Given the description of an element on the screen output the (x, y) to click on. 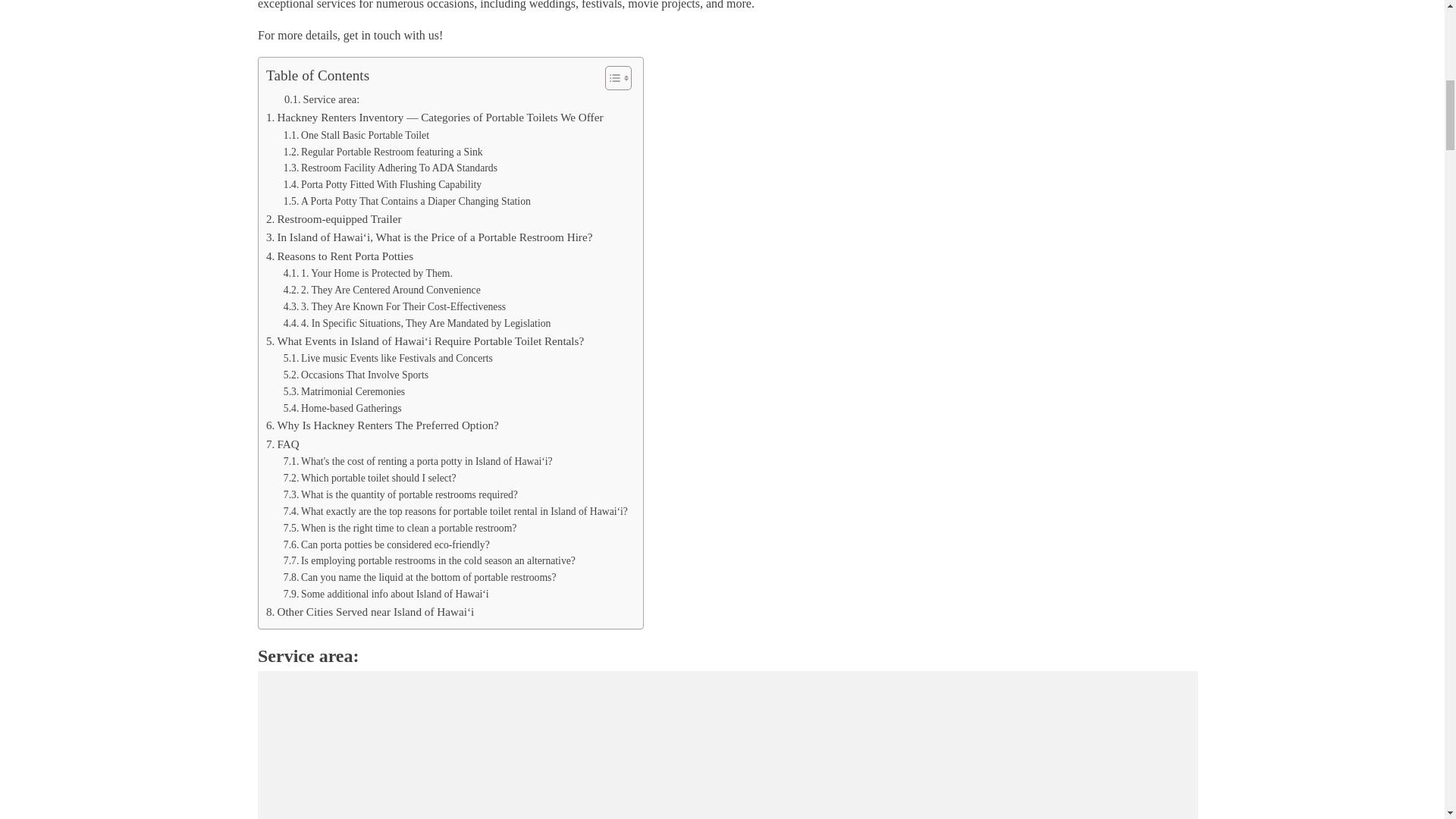
2. They Are Centered Around Convenience (381, 289)
One Stall Basic Portable Toilet (356, 135)
Porta Potty Fitted With Flushing Capability (382, 184)
Service area: (321, 99)
Restroom-equipped Trailer (333, 218)
Restroom Facility Adhering To ADA Standards (390, 167)
Restroom-equipped Trailer (333, 218)
Reasons to Rent Porta Potties (339, 256)
1. Your Home is Protected by Them. (367, 273)
Regular Portable Restroom featuring a Sink (383, 152)
1. Your Home is Protected by Them. (367, 273)
Regular Portable Restroom featuring a Sink (383, 152)
One Stall Basic Portable Toilet (356, 135)
A Porta Potty That Contains a Diaper Changing Station (407, 201)
Reasons to Rent Porta Potties (339, 256)
